Given the description of an element on the screen output the (x, y) to click on. 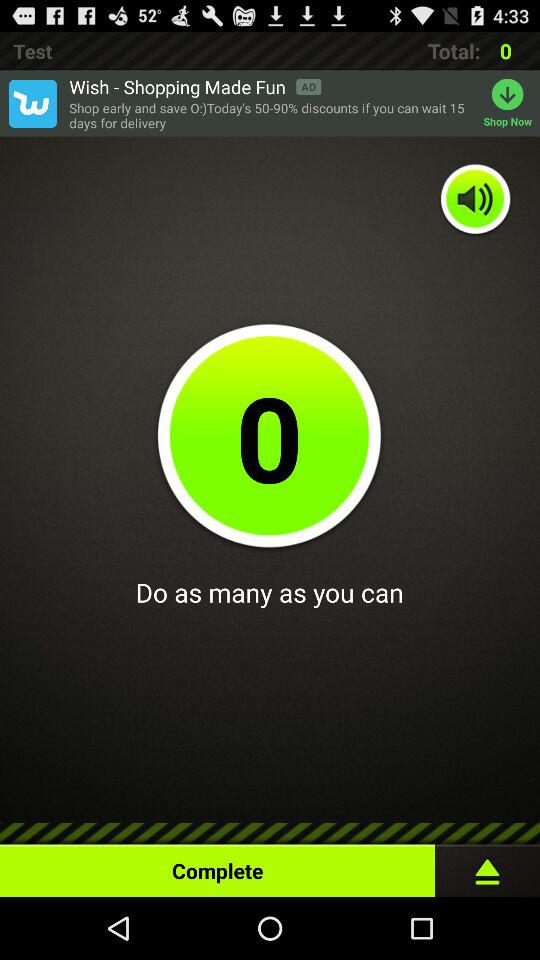
turn on the item next to wish shopping made icon (32, 103)
